Given the description of an element on the screen output the (x, y) to click on. 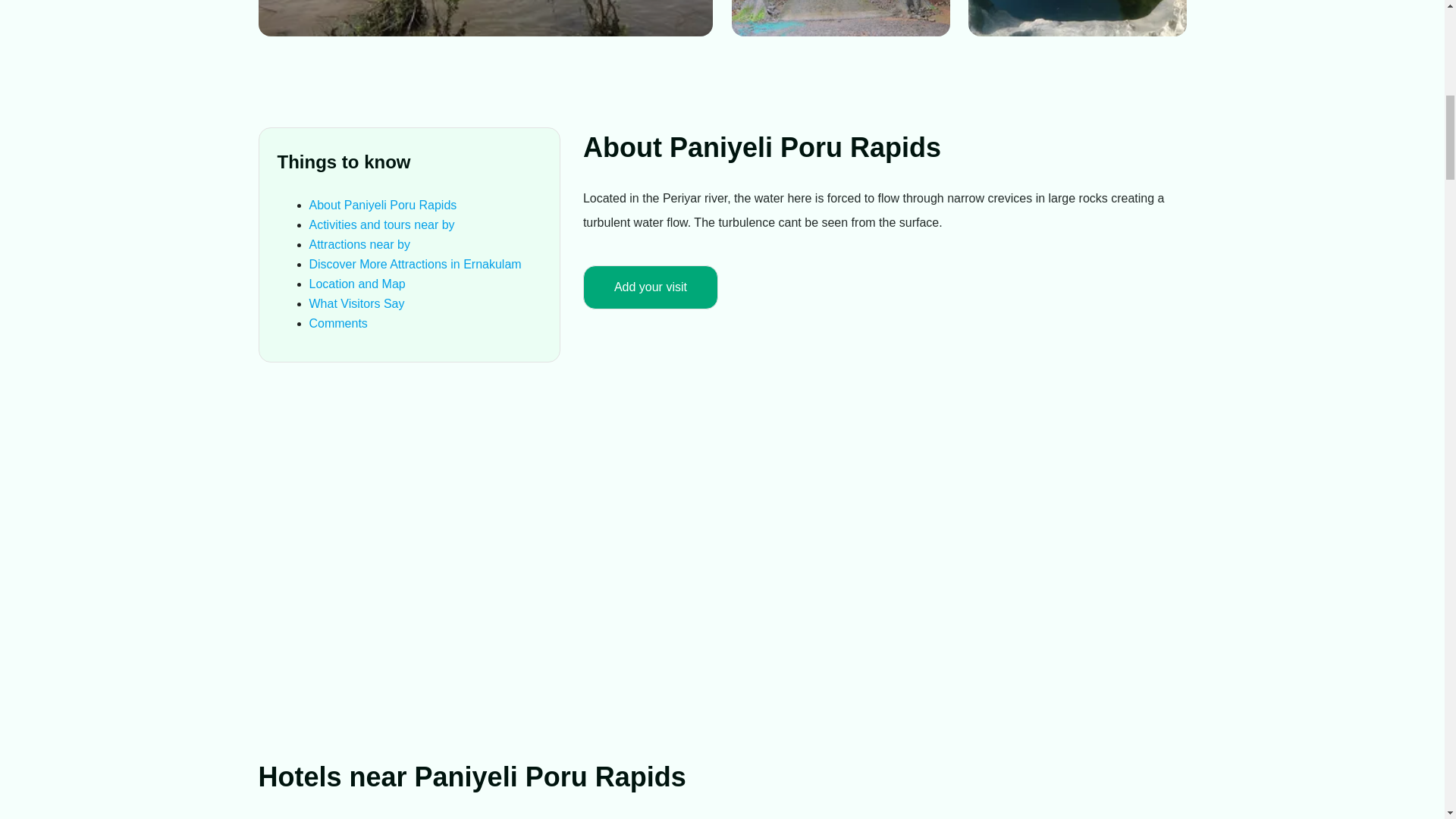
Location and Map (357, 283)
About Paniyeli Poru Rapids (382, 205)
Activities and tours near by (381, 224)
Attractions near by (359, 244)
Comments (338, 323)
What Visitors Say (356, 303)
Add your visit (650, 286)
Discover More Attractions in Ernakulam (414, 264)
